Given the description of an element on the screen output the (x, y) to click on. 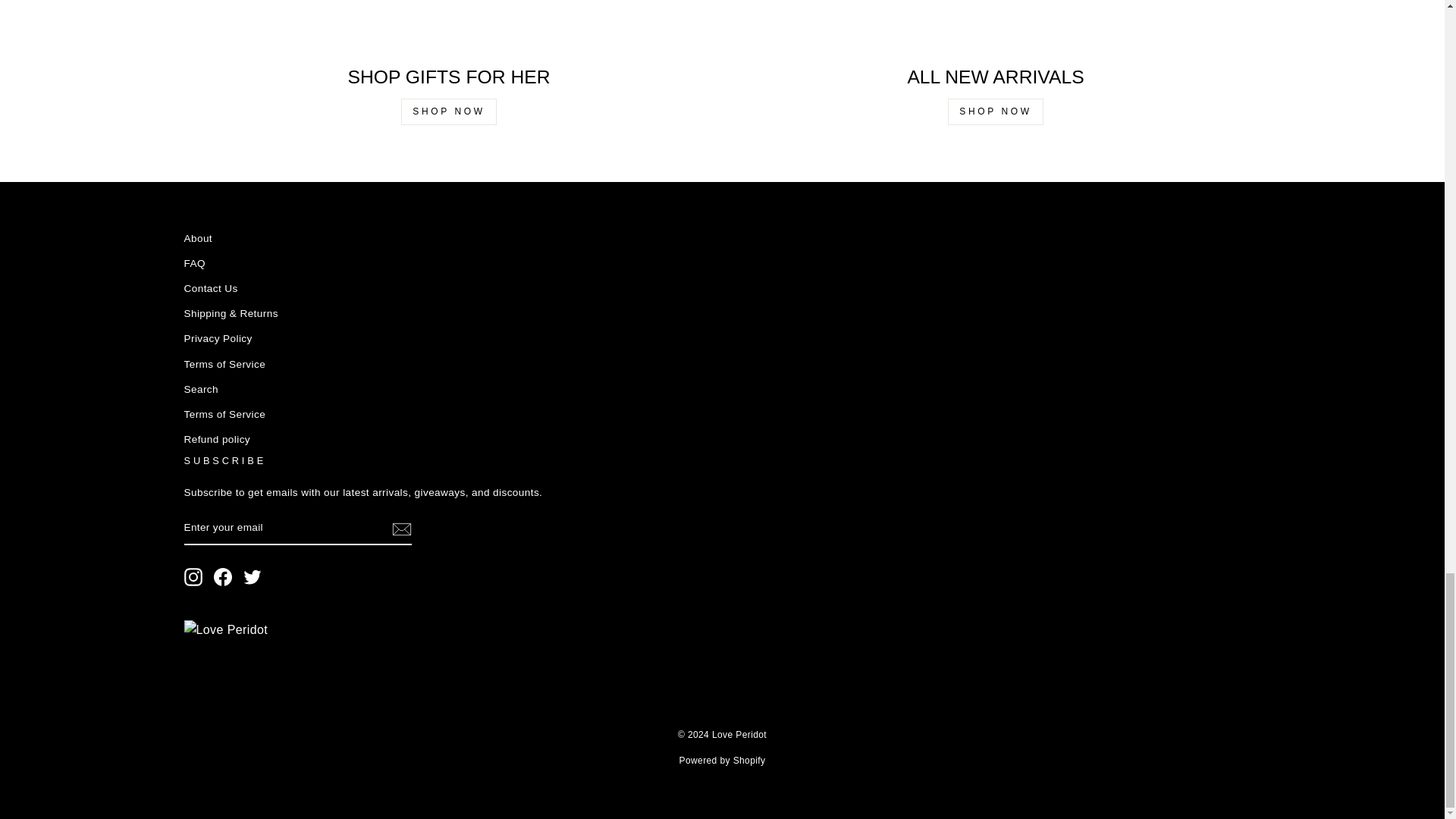
Love Peridot on Facebook (222, 577)
Love Peridot on Instagram (192, 577)
Love Peridot on Twitter (251, 577)
